Given the description of an element on the screen output the (x, y) to click on. 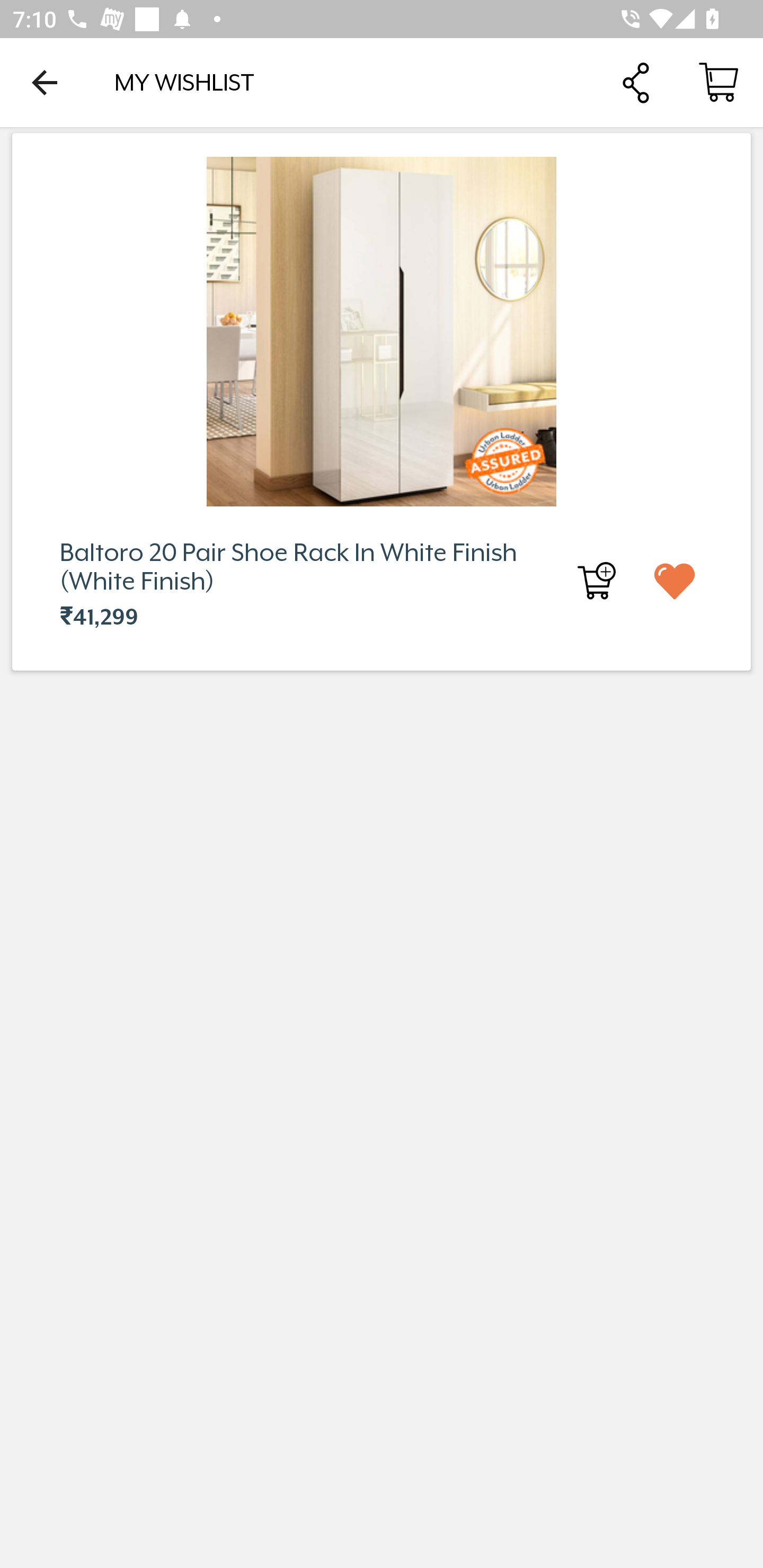
Navigate up (44, 82)
Share Wishlist (635, 81)
Cart (718, 81)
 (690, 579)
